Given the description of an element on the screen output the (x, y) to click on. 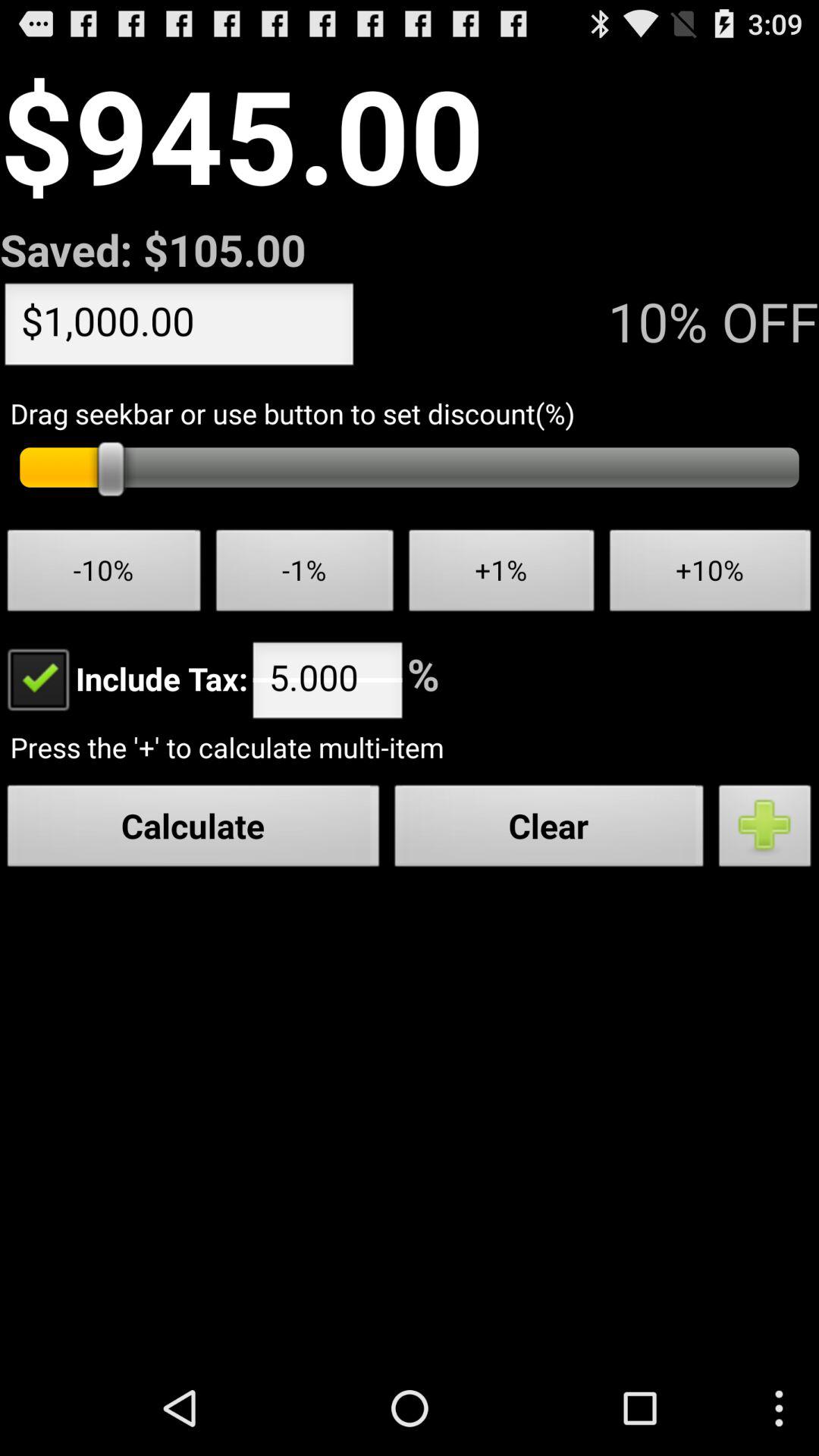
scroll to include tax: (123, 678)
